Given the description of an element on the screen output the (x, y) to click on. 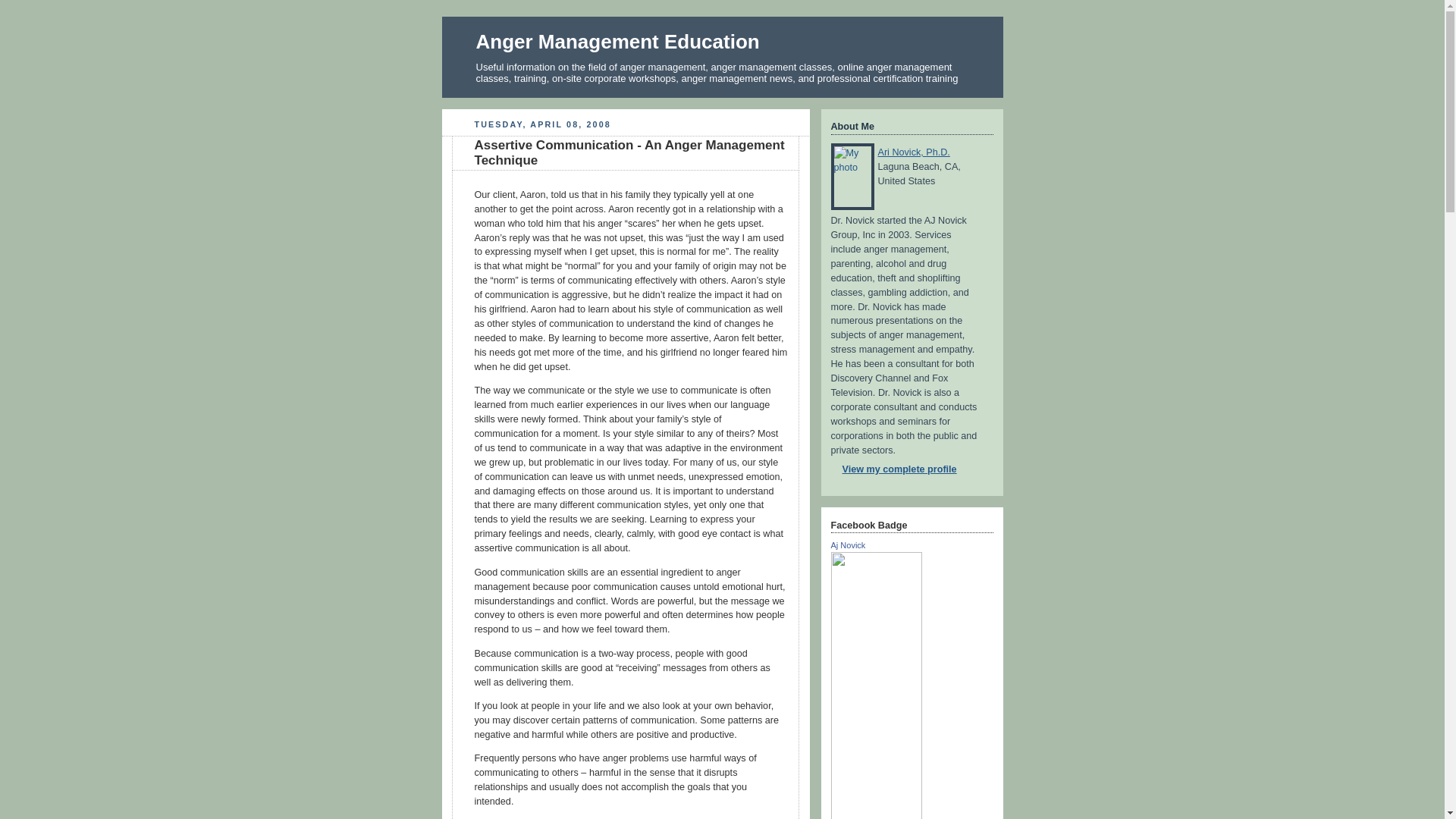
Aj Novick (848, 544)
View my complete profile (893, 469)
Ari Novick, Ph.D. (913, 152)
Aj Novick (876, 818)
Anger Management Education (618, 41)
Aj Novick (848, 544)
